Given the description of an element on the screen output the (x, y) to click on. 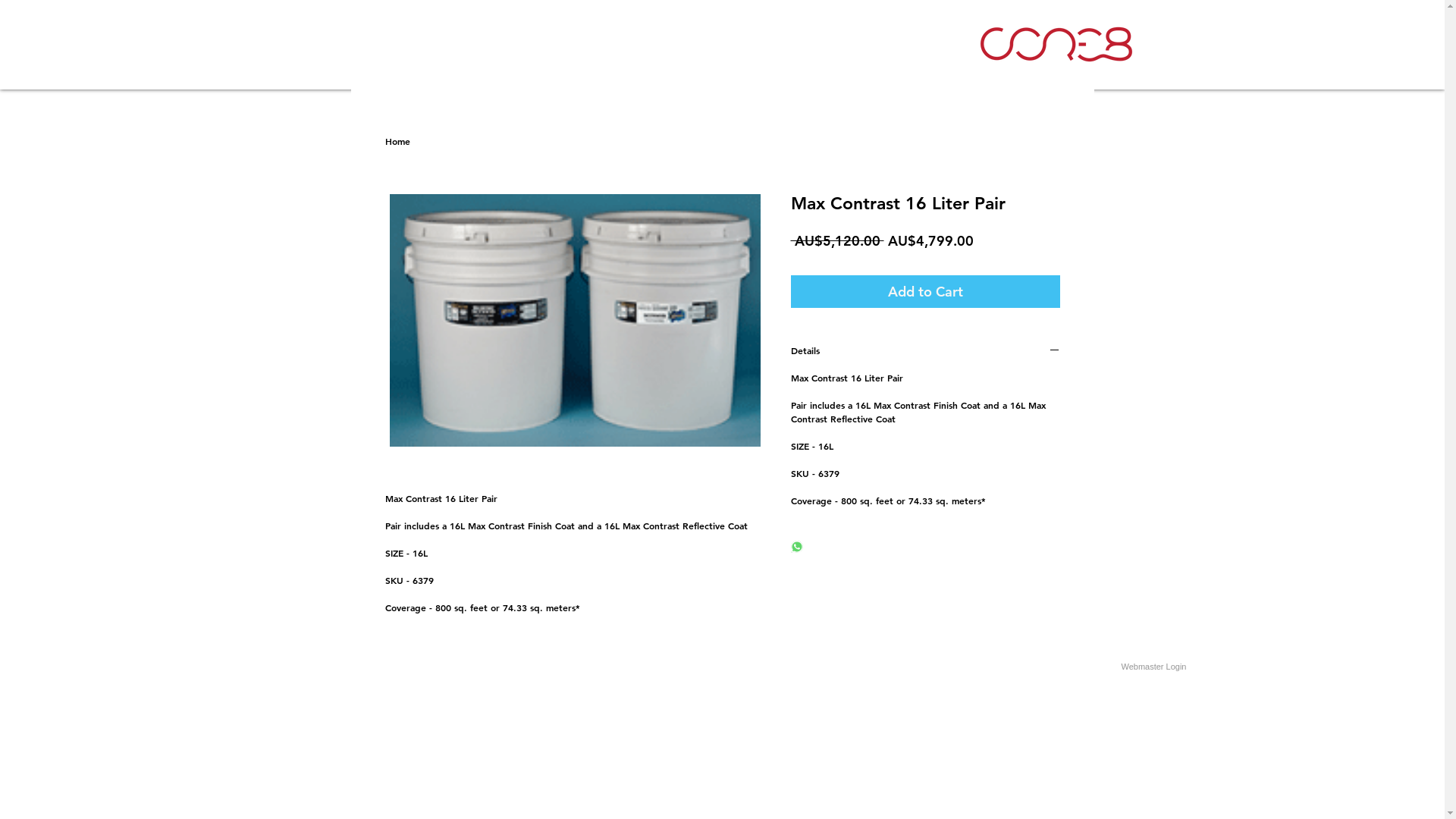
Details Element type: text (924, 351)
Home Element type: text (397, 140)
core8_1-02.png Element type: hover (1055, 44)
Webmaster Login Element type: text (1153, 666)
Add to Cart Element type: text (924, 291)
